Given the description of an element on the screen output the (x, y) to click on. 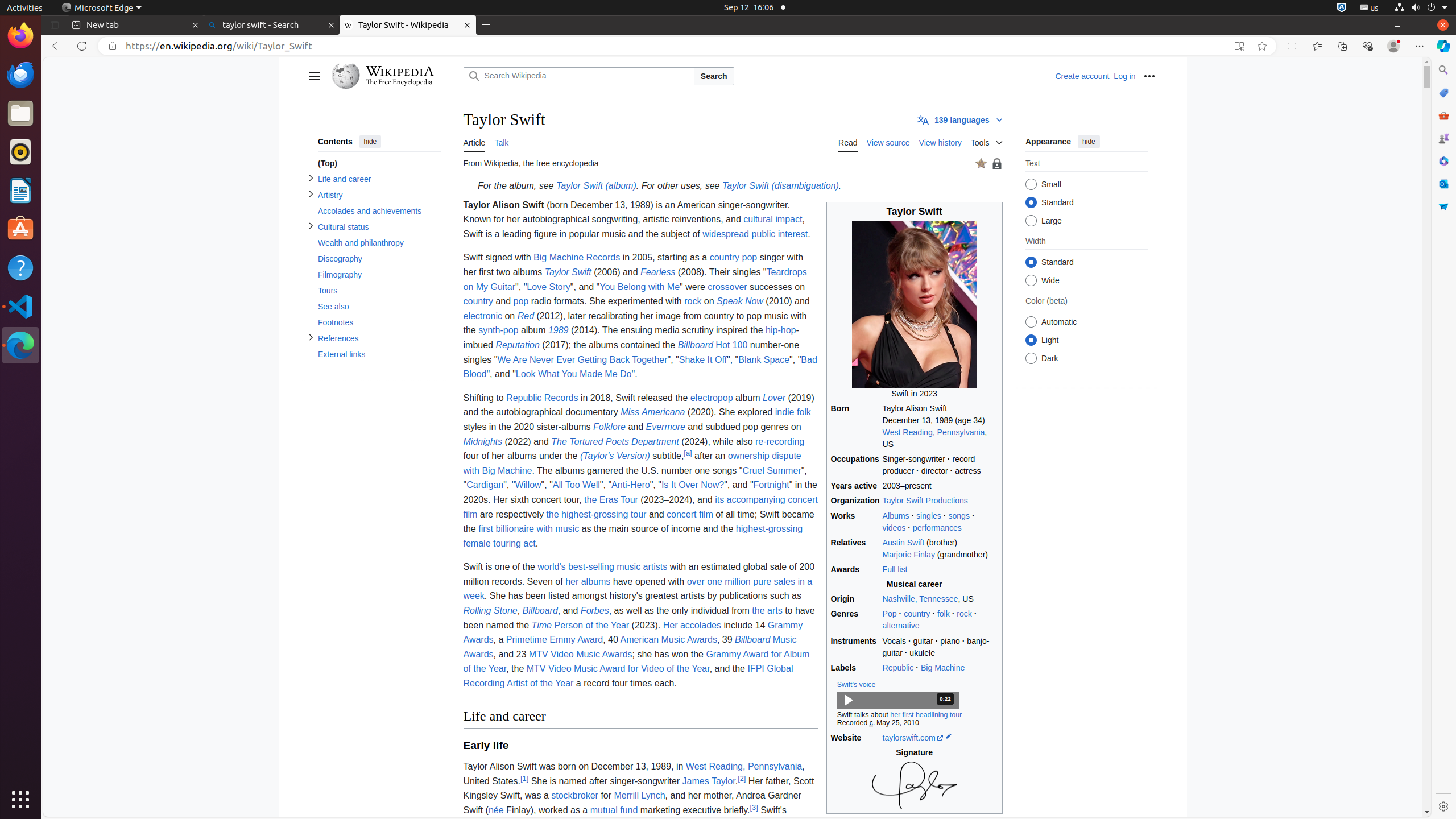
Lover Element type: link (774, 397)
highest-grossing female touring act Element type: link (632, 535)
Tab actions menu Element type: push-button (54, 24)
Taylor Swift Productions Element type: table-cell (939, 500)
country Element type: link (916, 613)
